Given the description of an element on the screen output the (x, y) to click on. 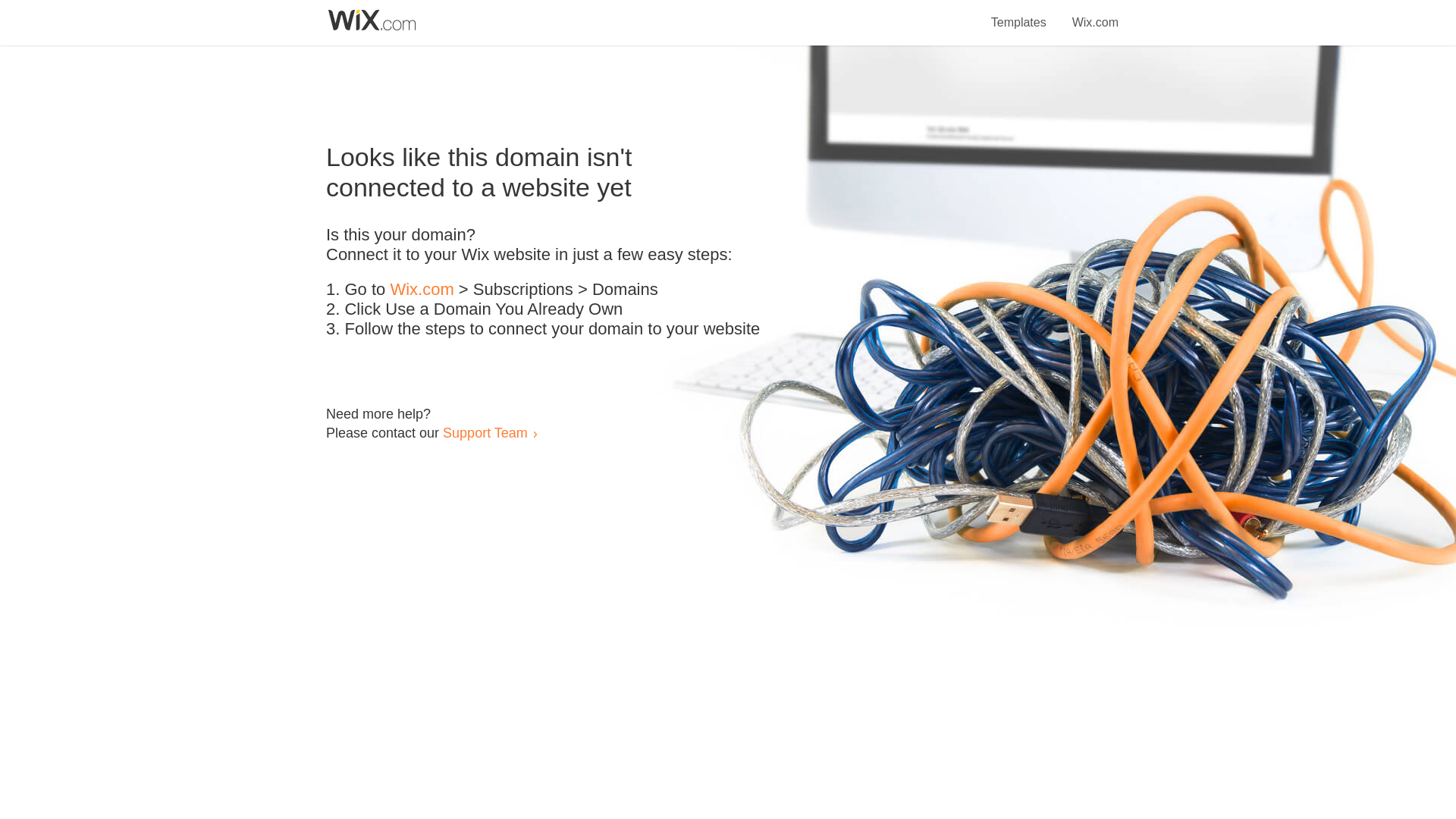
Wix.com (1095, 14)
Support Team (484, 432)
Templates (1018, 14)
Wix.com (421, 289)
